Given the description of an element on the screen output the (x, y) to click on. 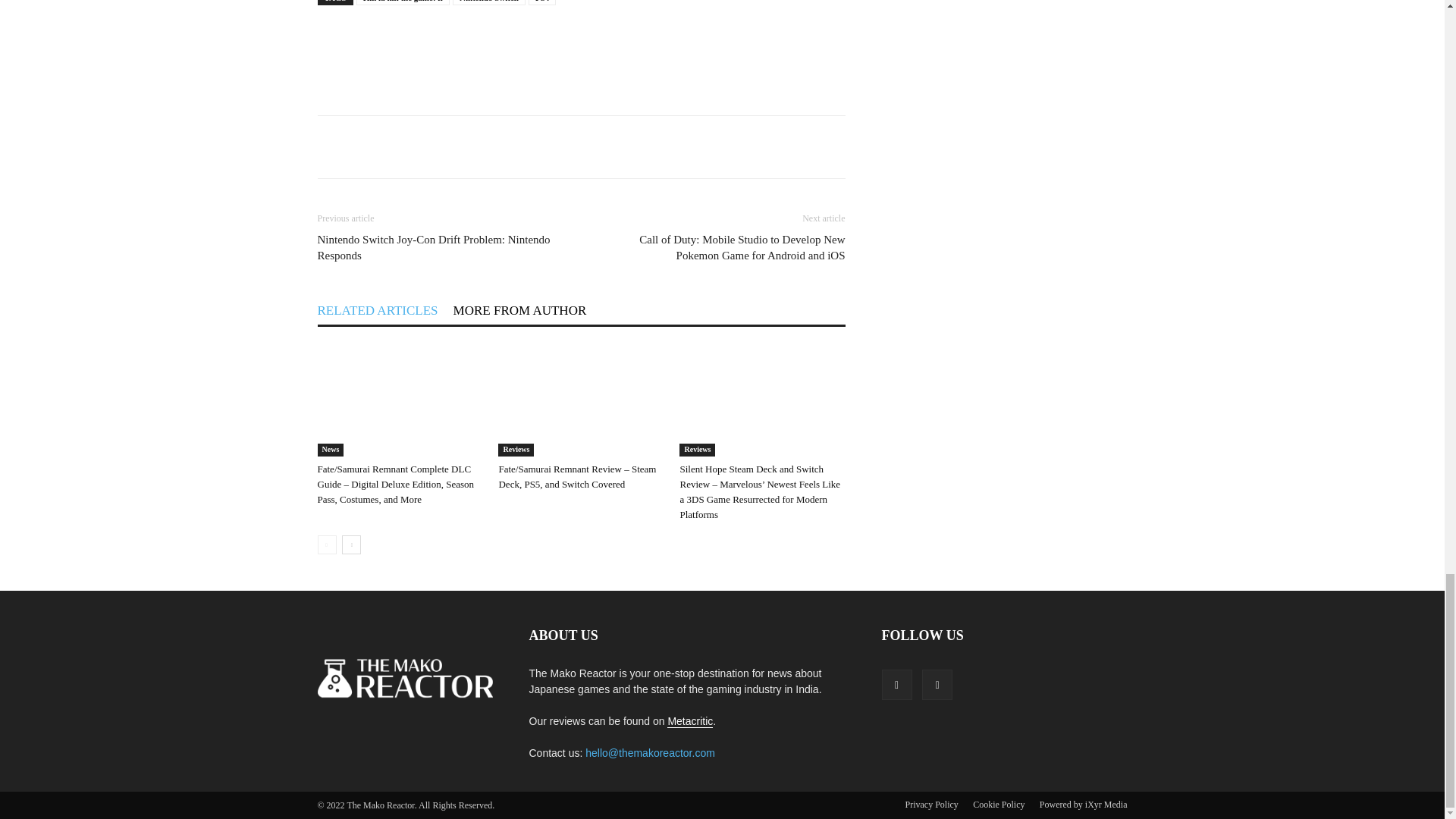
Nintendo Switch (488, 2)
Kill la kill the game: if (402, 2)
PS4 (542, 2)
